Given the description of an element on the screen output the (x, y) to click on. 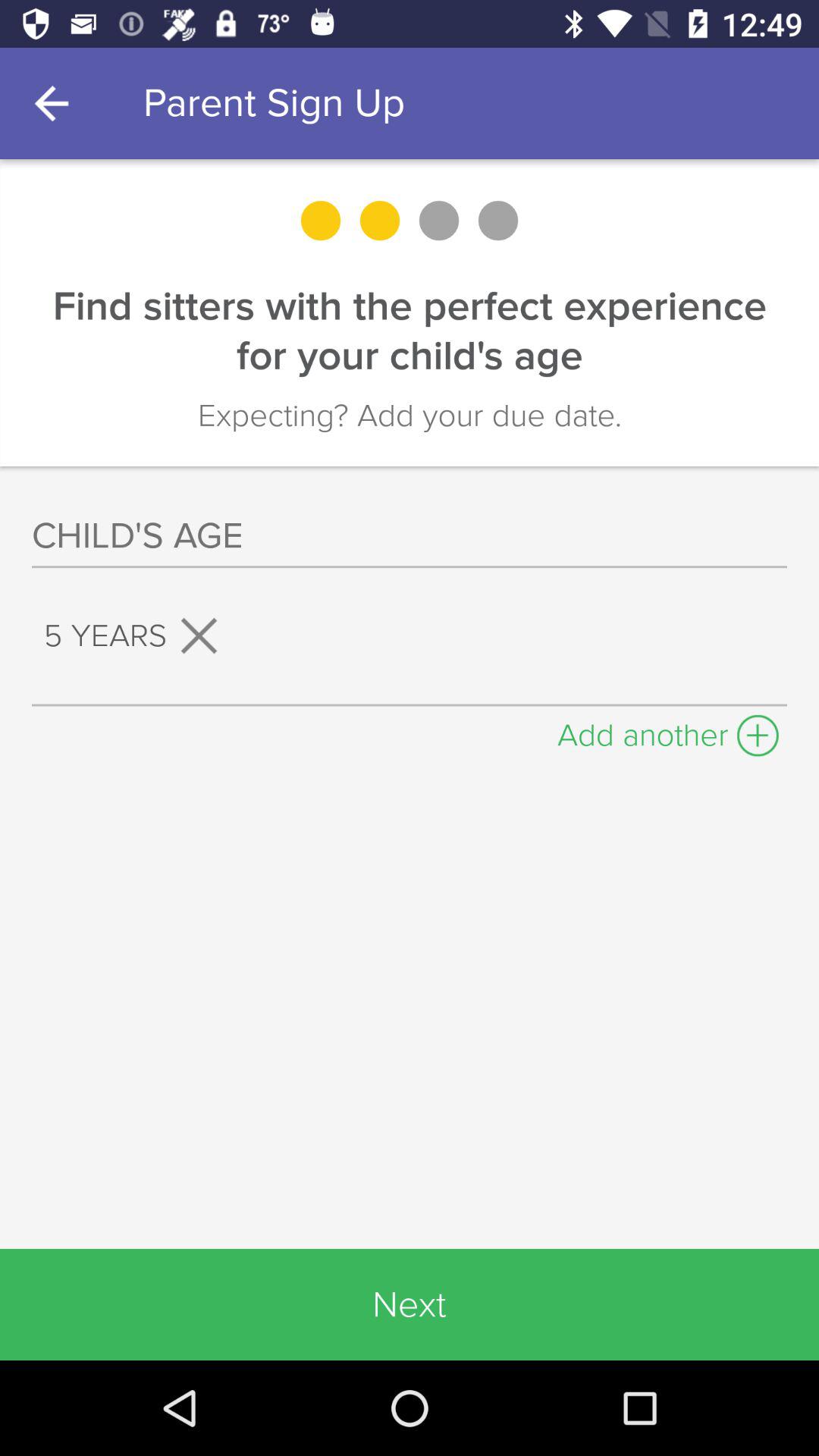
open the 5 years (136, 635)
